Given the description of an element on the screen output the (x, y) to click on. 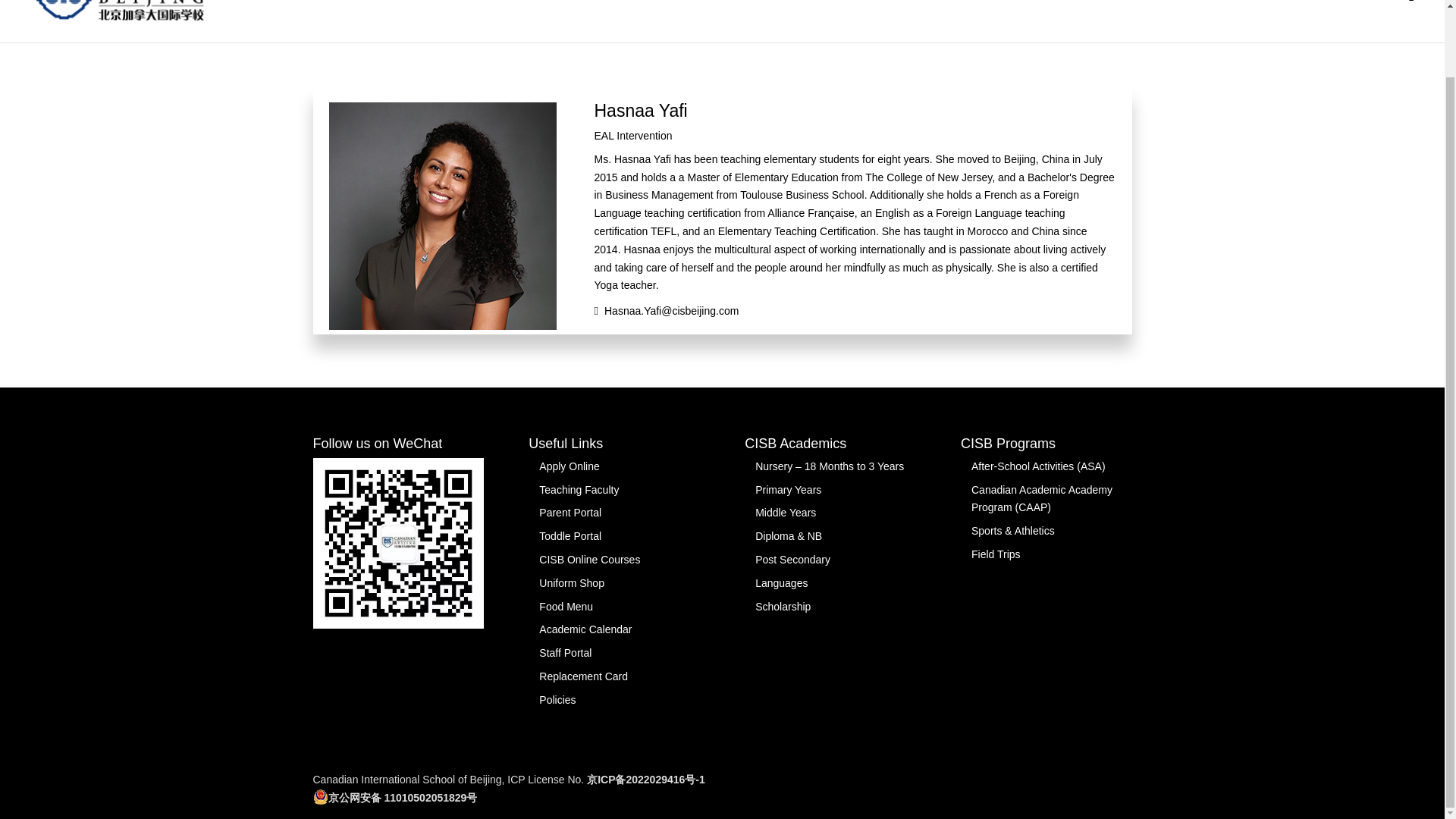
OUR PROGRAMS (1171, 21)
OUR ACADEMICS (1040, 21)
OUR SCHOOL (918, 21)
